Given the description of an element on the screen output the (x, y) to click on. 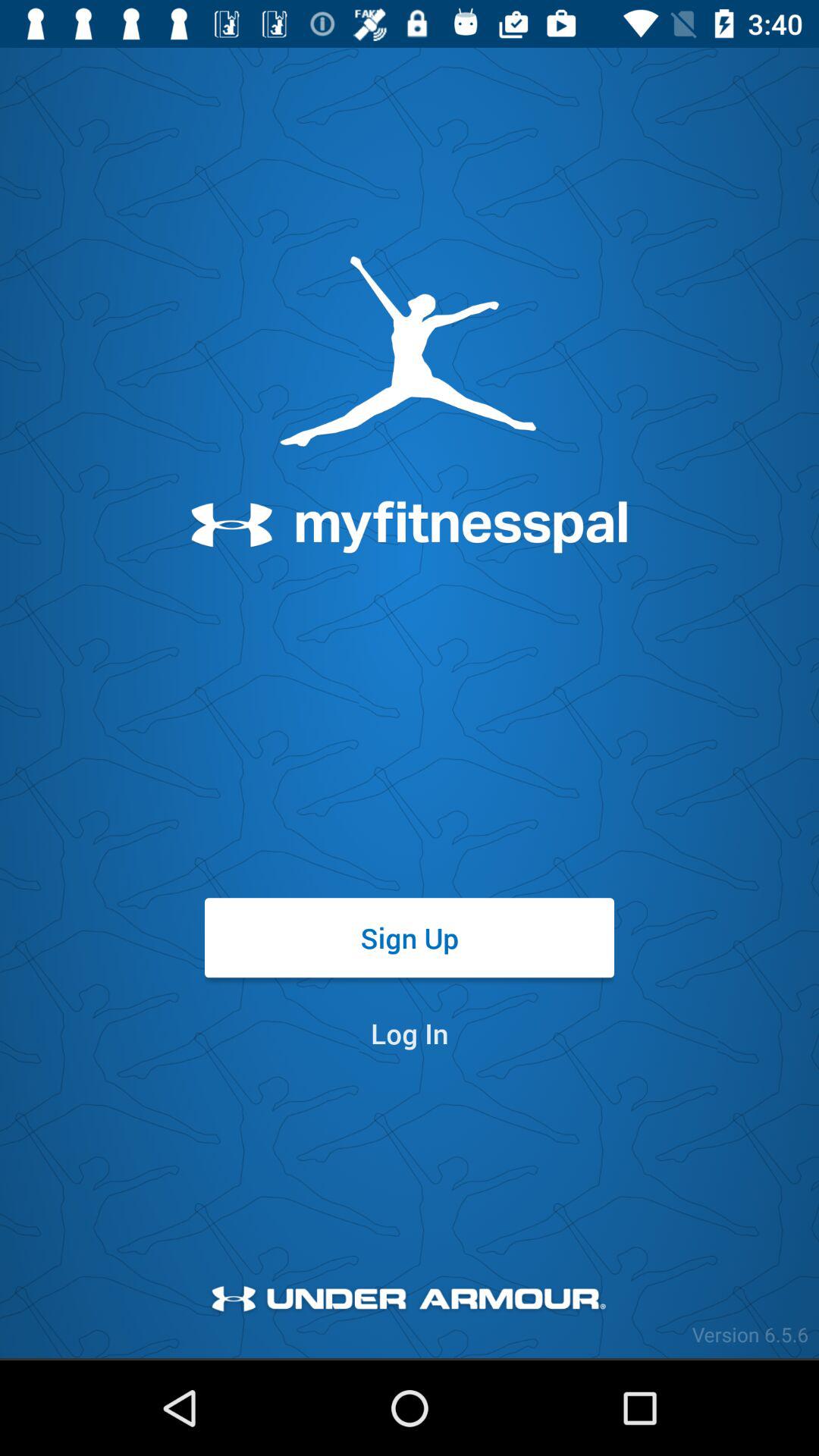
open the log in (409, 1033)
